Given the description of an element on the screen output the (x, y) to click on. 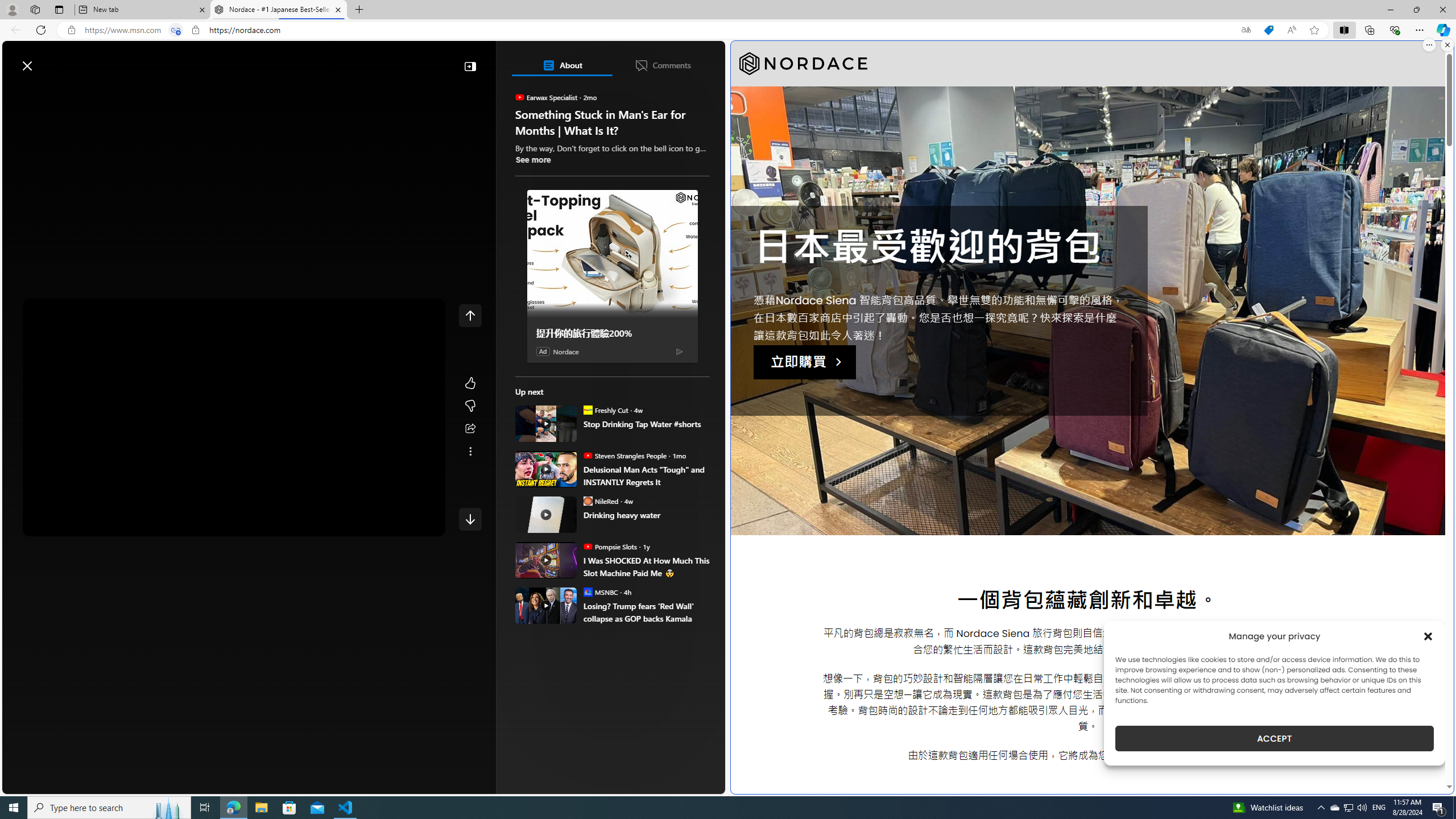
Following (98, 92)
Open Copilot (565, 59)
Drinking heavy water (545, 514)
Show translate options (1245, 29)
Ad Choice (678, 350)
Class: control (469, 518)
Discover (47, 92)
